Given the description of an element on the screen output the (x, y) to click on. 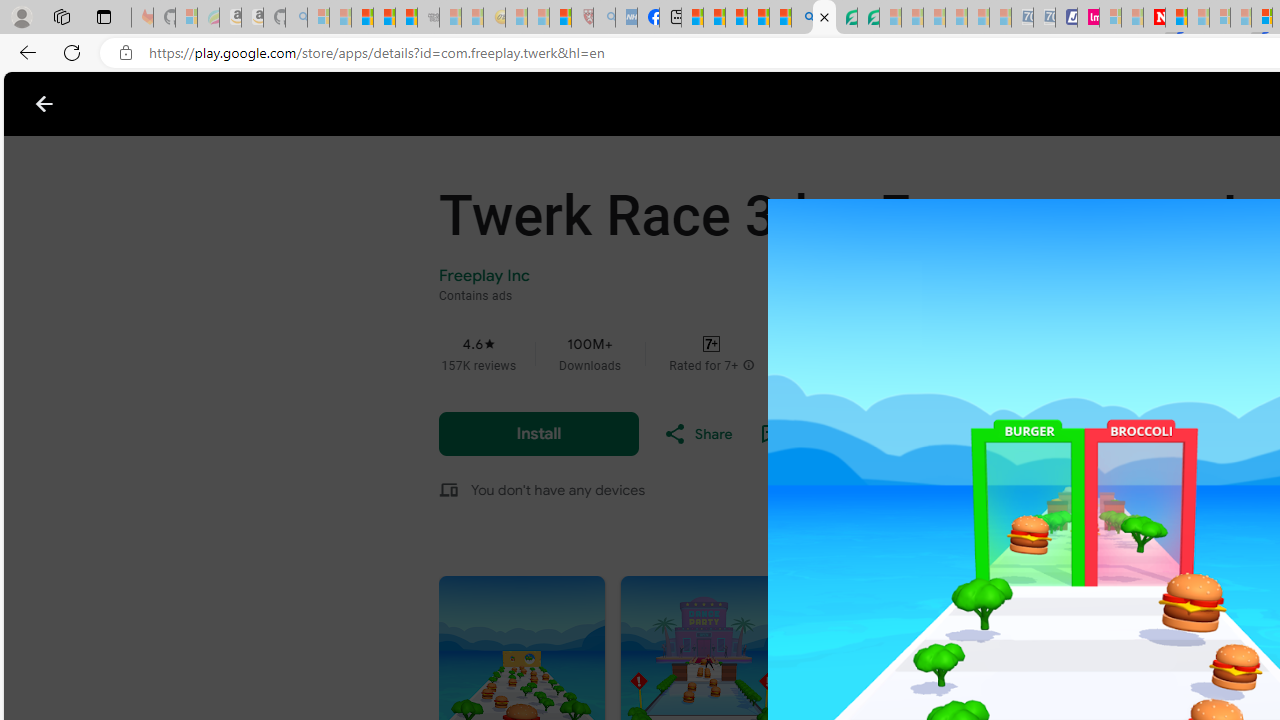
Games (252, 104)
Add to wishlist (820, 433)
The Weather Channel - MSN (362, 17)
Microsoft Word - consumer-privacy address update 2.2021 (868, 17)
Kids (389, 104)
